Given the description of an element on the screen output the (x, y) to click on. 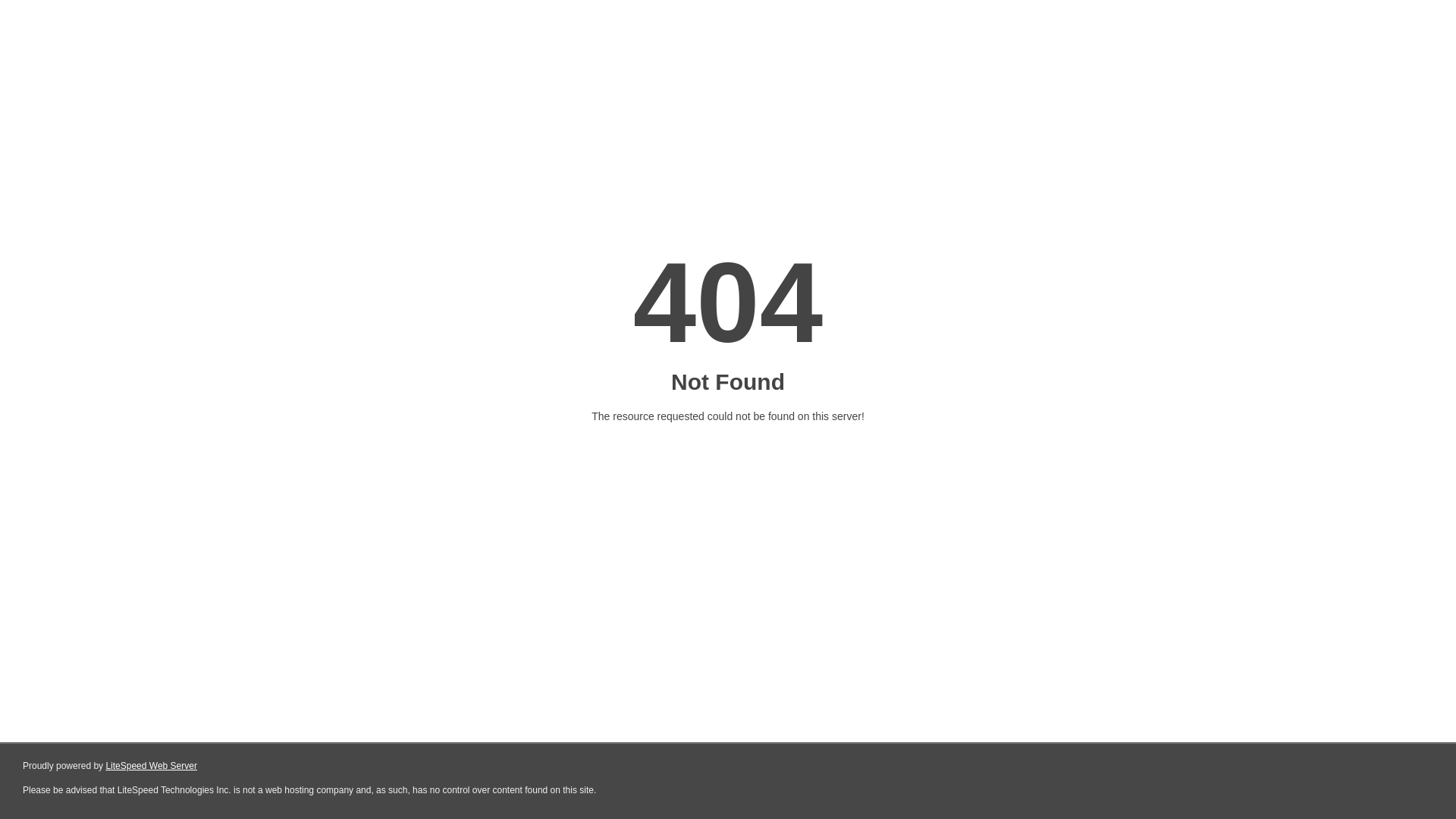
LiteSpeed Web Server Element type: text (151, 765)
